Given the description of an element on the screen output the (x, y) to click on. 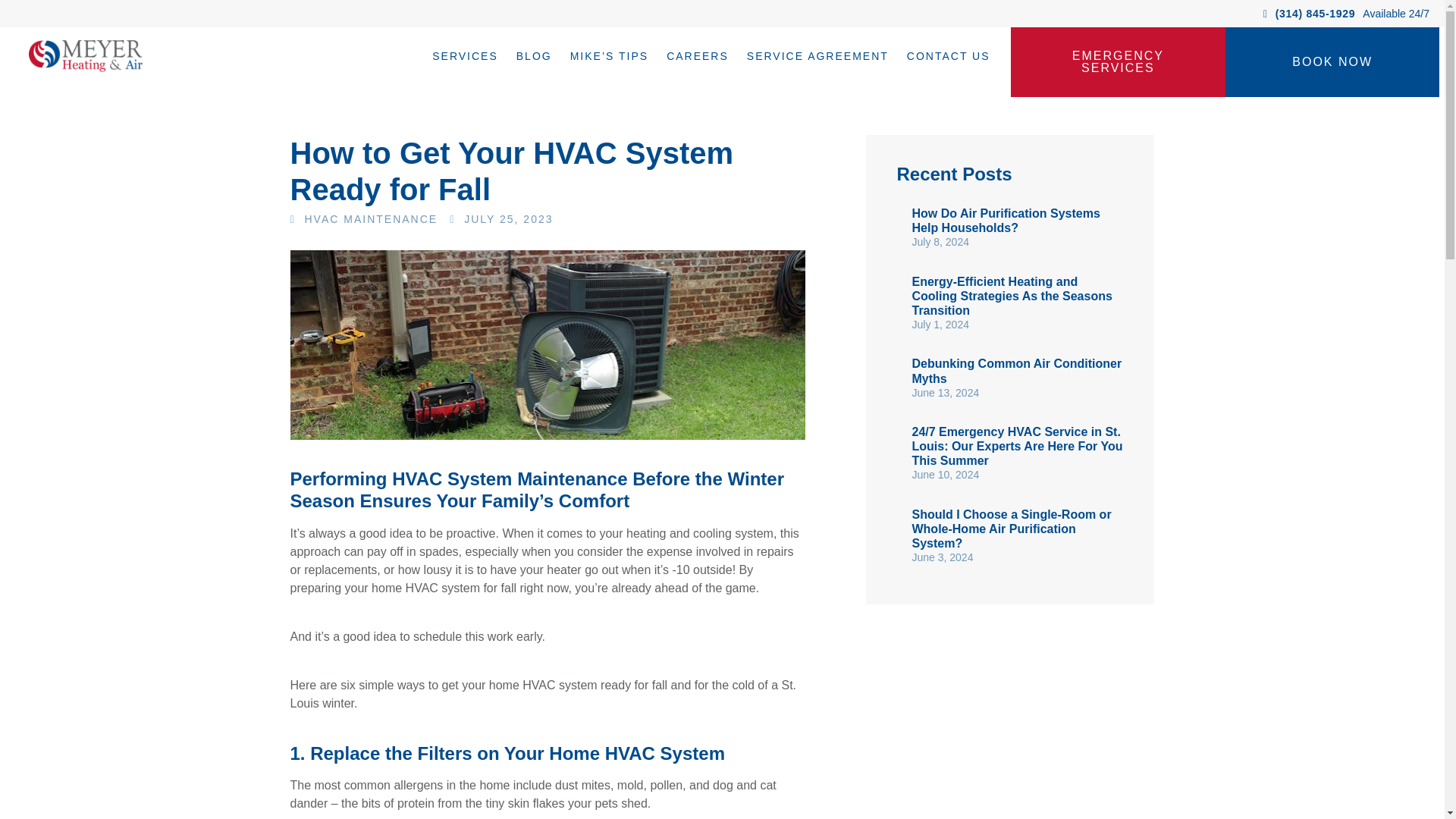
CAREERS (698, 55)
BOOK NOW (1331, 61)
CONTACT US (948, 55)
BLOG (533, 55)
SERVICE AGREEMENT (818, 55)
EMERGENCY SERVICES (1117, 62)
SERVICES (464, 55)
